Given the description of an element on the screen output the (x, y) to click on. 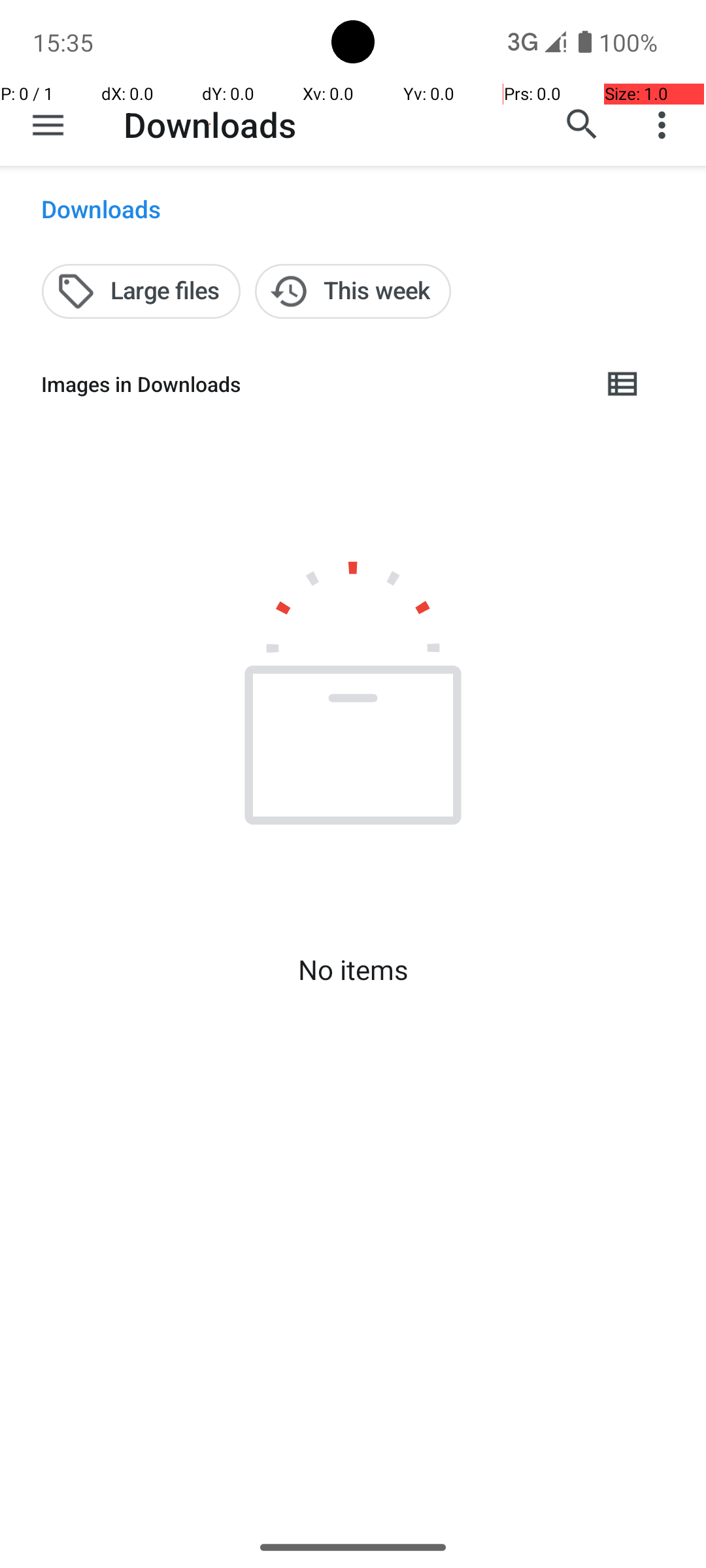
Images in Downloads Element type: android.widget.TextView (311, 383)
